Given the description of an element on the screen output the (x, y) to click on. 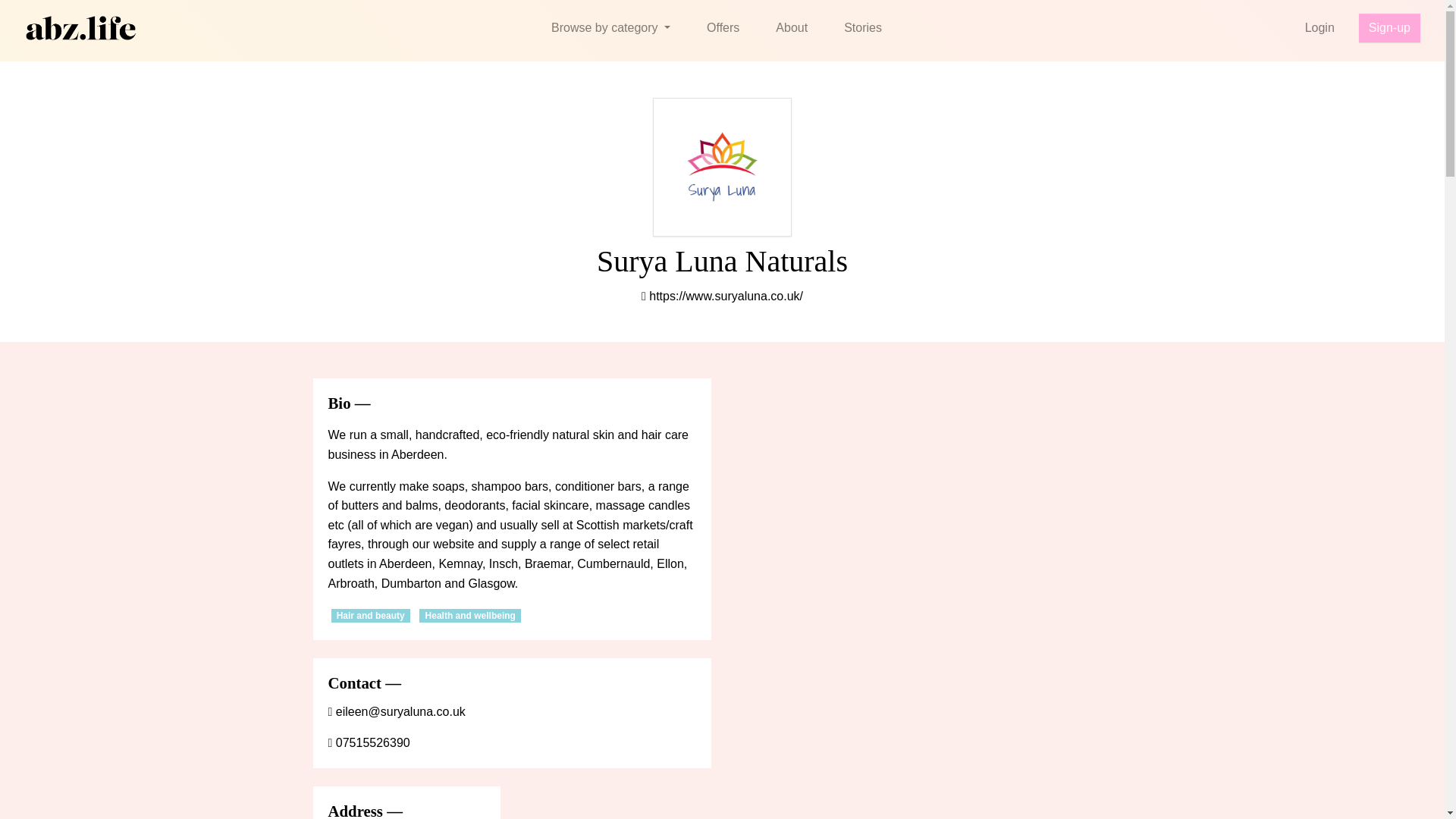
Sign-up (1389, 27)
Hair and beauty (369, 615)
About (791, 28)
Health and wellbeing (470, 615)
Browse by category (610, 28)
Offers (722, 28)
Stories (862, 28)
Login (1319, 28)
07515526390 (368, 742)
